Given the description of an element on the screen output the (x, y) to click on. 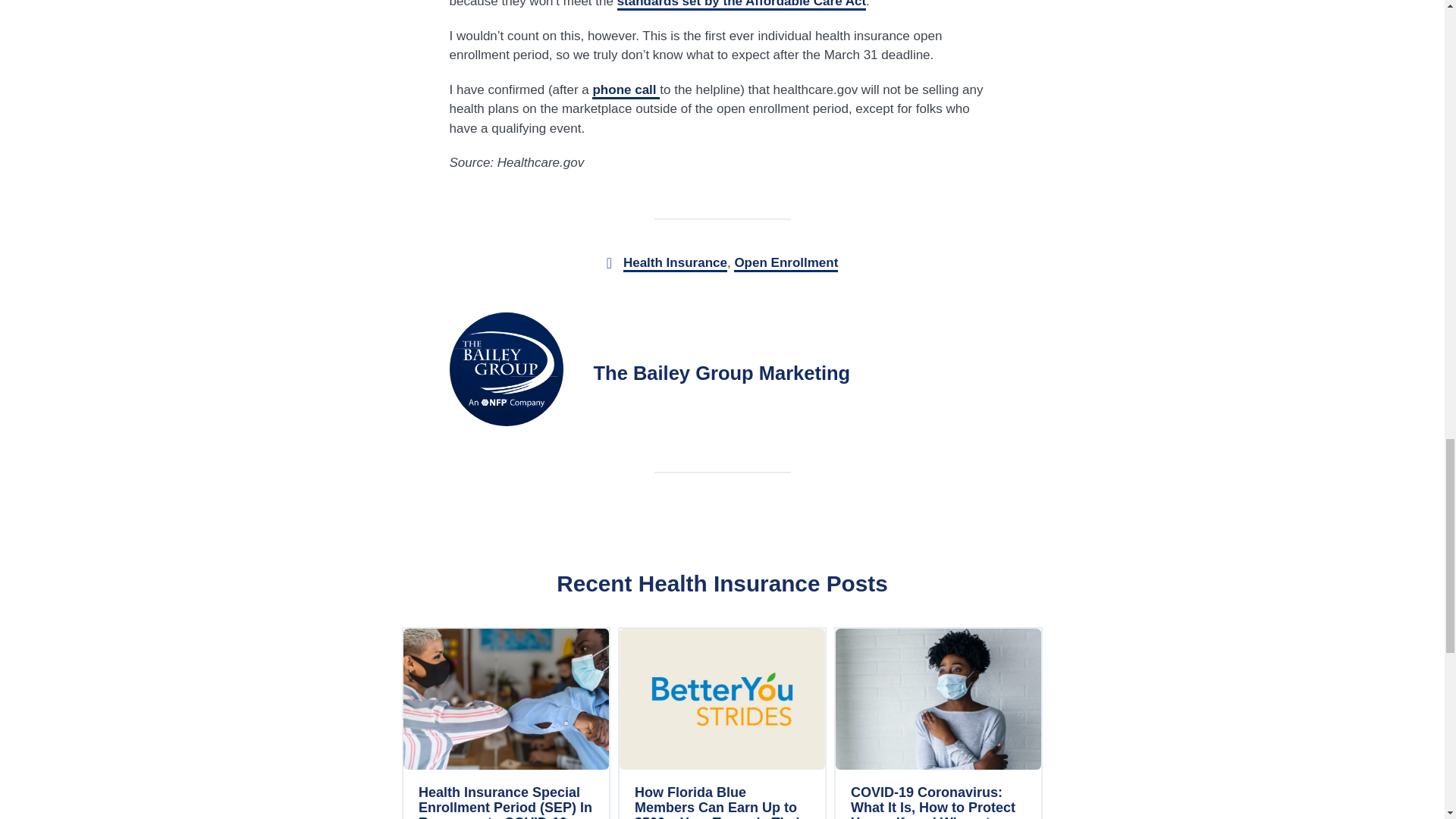
Contact us - Healthcare.gov (625, 89)
What is a Qualified Health Plan? (741, 5)
